Given the description of an element on the screen output the (x, y) to click on. 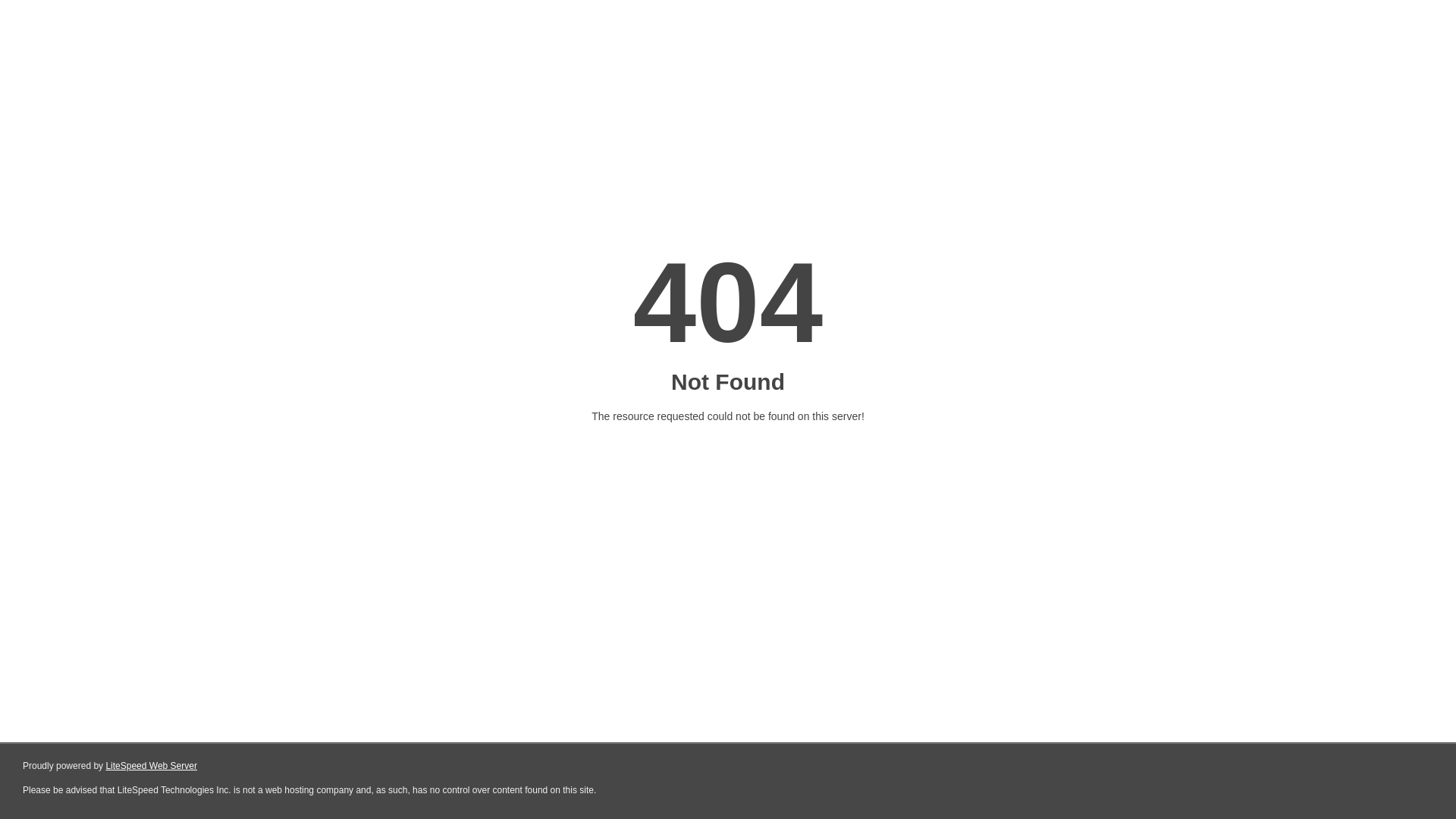
LiteSpeed Web Server Element type: text (151, 765)
